Given the description of an element on the screen output the (x, y) to click on. 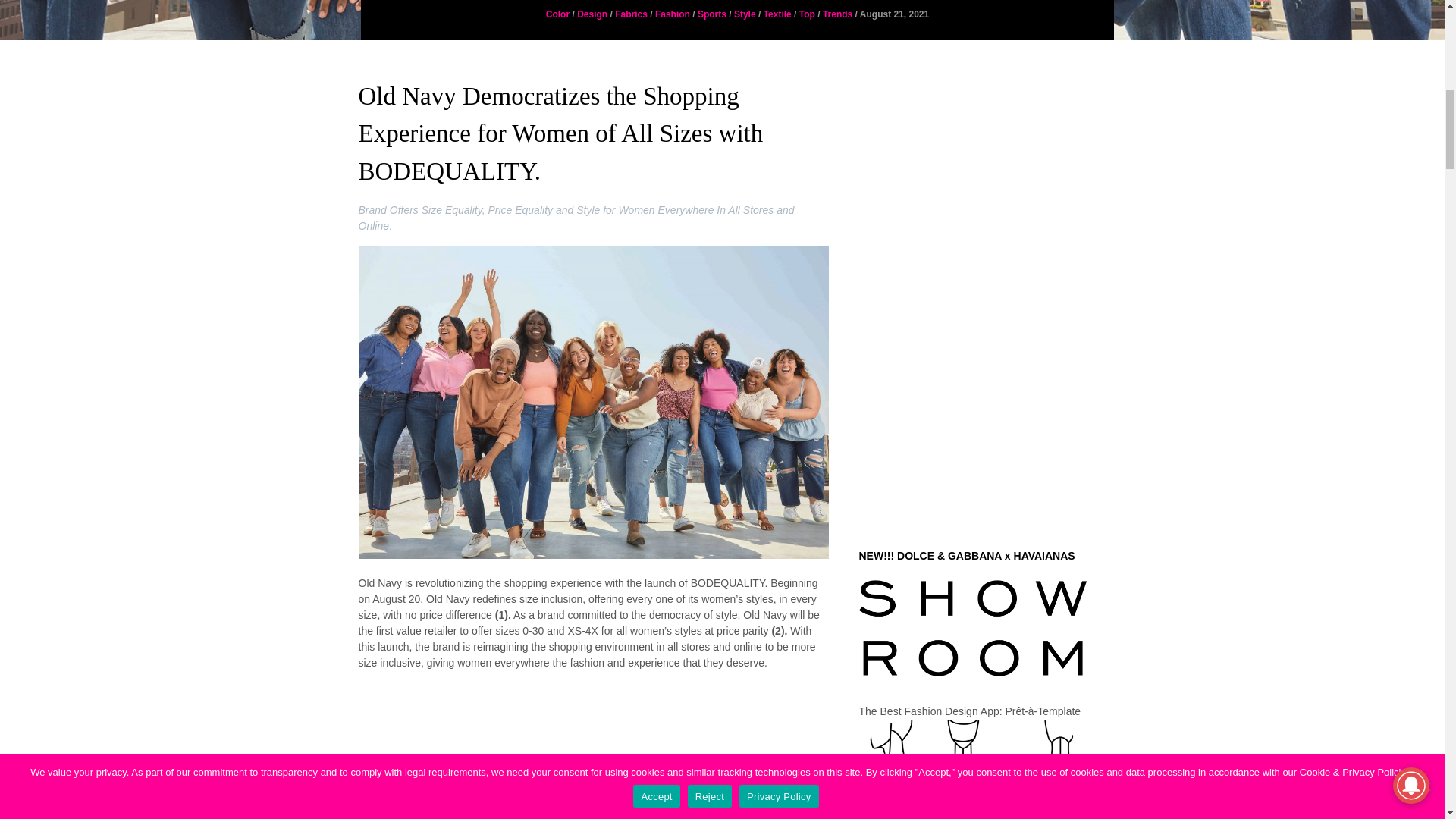
Advertisement (593, 763)
